Given the description of an element on the screen output the (x, y) to click on. 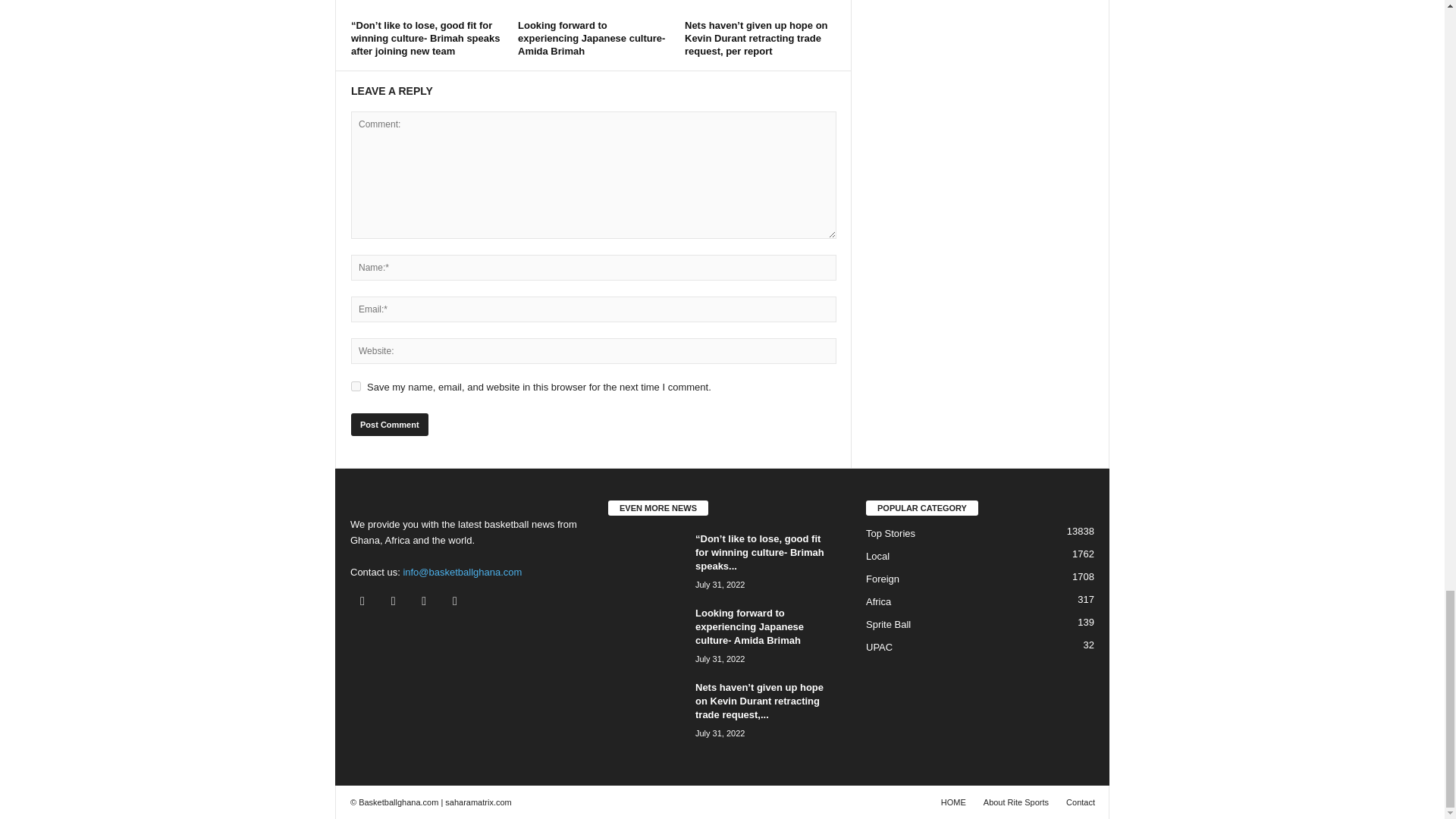
Post Comment (389, 424)
yes (355, 386)
